Given the description of an element on the screen output the (x, y) to click on. 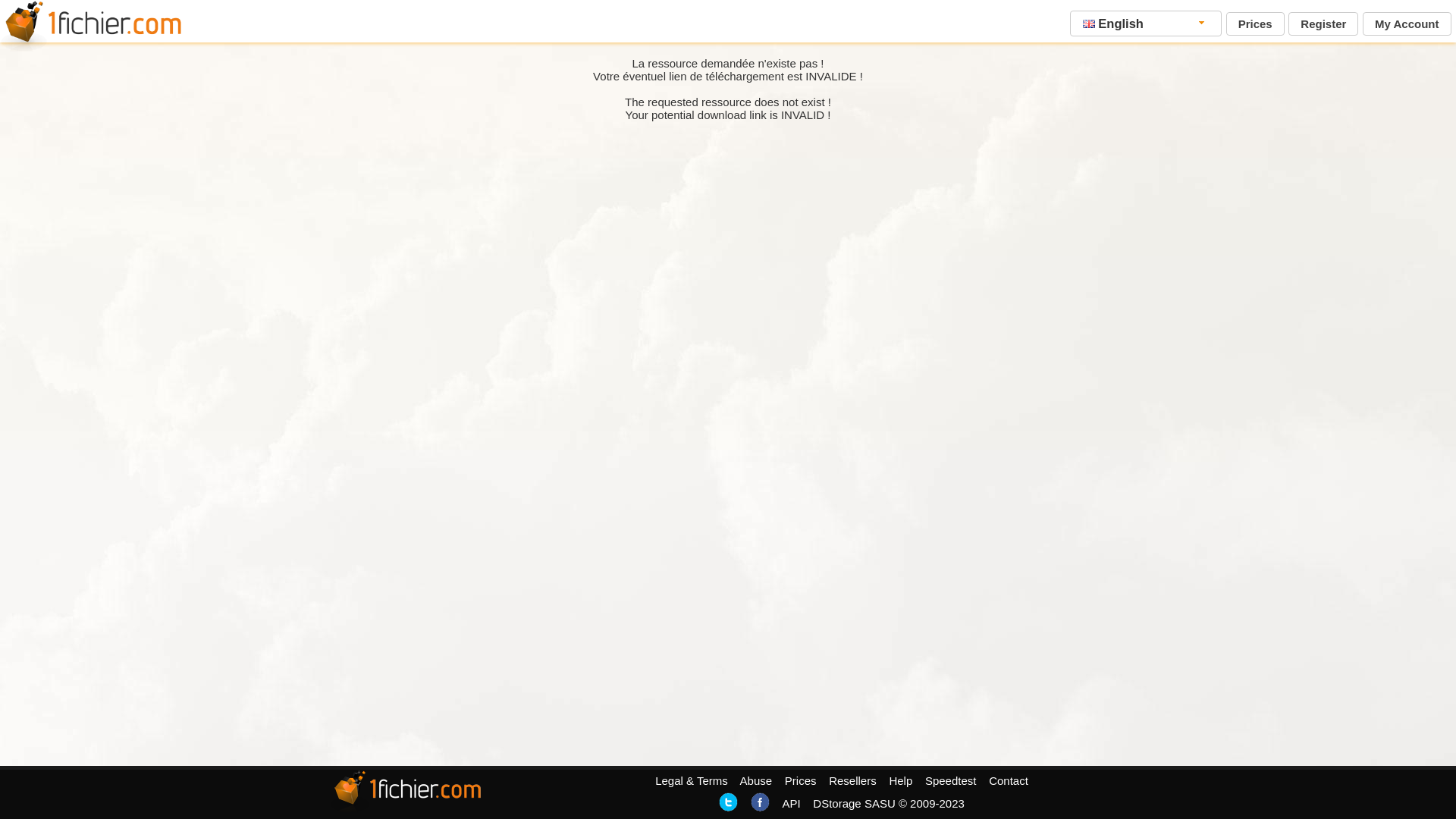
My Account Element type: text (1406, 23)
Speedtest Element type: text (950, 780)
Prices Element type: text (800, 780)
Resellers Element type: text (852, 780)
Prices Element type: text (1255, 23)
Help Element type: text (900, 780)
Abuse Element type: text (756, 780)
API Element type: text (790, 803)
Register Element type: text (1323, 23)
Legal & Terms Element type: text (691, 780)
Contact Element type: text (1008, 780)
